Given the description of an element on the screen output the (x, y) to click on. 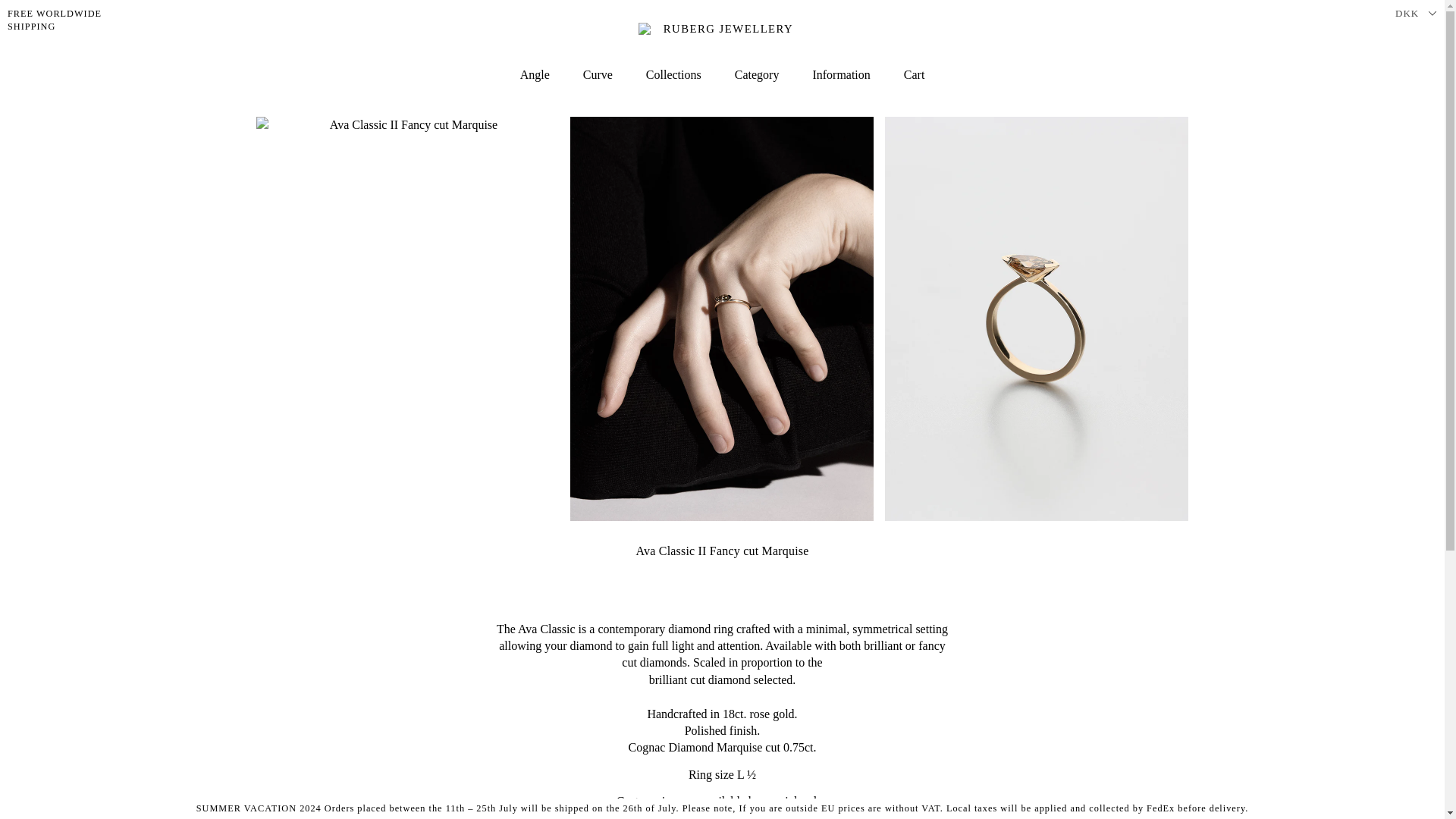
FREE WORLDWIDE SHIPPING (75, 20)
Angle (673, 75)
Curve (534, 75)
